Given the description of an element on the screen output the (x, y) to click on. 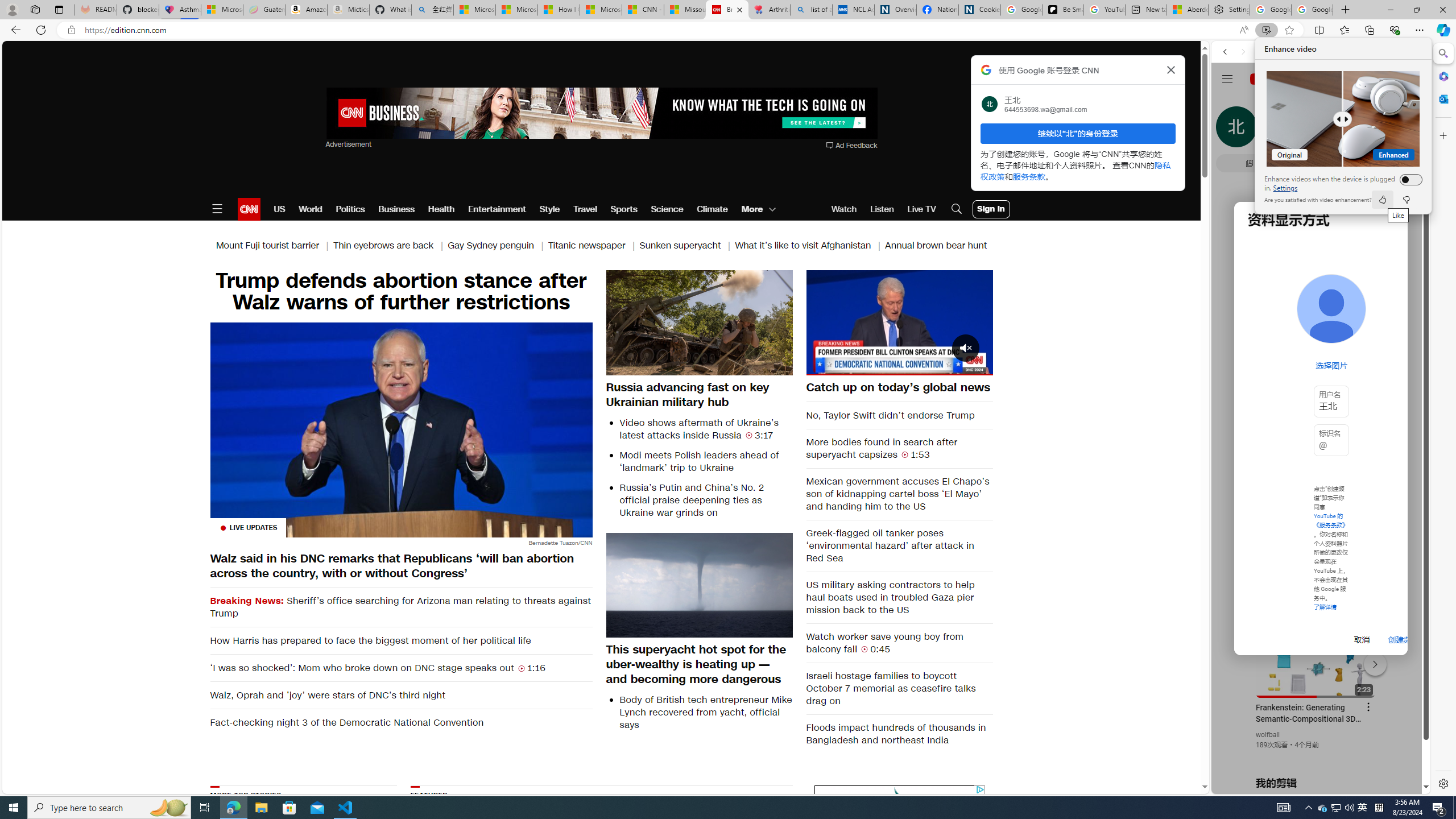
wolfball (1268, 734)
Microsoft Store (289, 807)
Russia advancing fast on key Ukrainian military hub (699, 394)
Science (667, 209)
Entertainment (496, 209)
Health (441, 209)
Travel (584, 209)
Comparision (1342, 118)
User Promoted Notification Area (1336, 807)
Show desktop (1454, 807)
Music (1320, 309)
list of asthma inhalers uk - Search (810, 9)
